Given the description of an element on the screen output the (x, y) to click on. 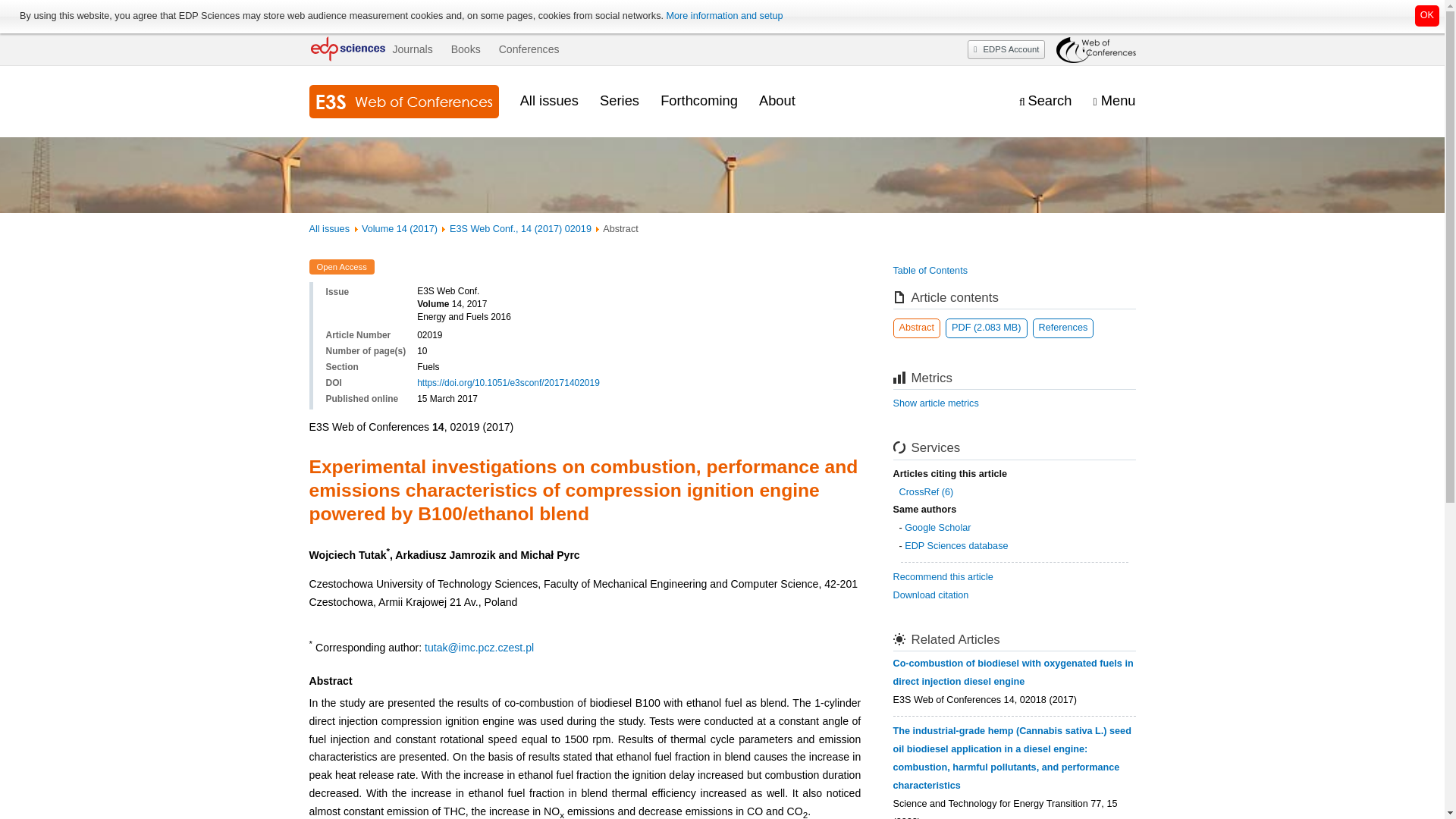
OK (1427, 15)
Click to close this notification (1427, 15)
Journal homepage (403, 101)
Books (465, 49)
Display the search engine (1045, 101)
Conferences (529, 49)
Journals (411, 49)
More information and setup (724, 15)
Abstract (916, 328)
